Given the description of an element on the screen output the (x, y) to click on. 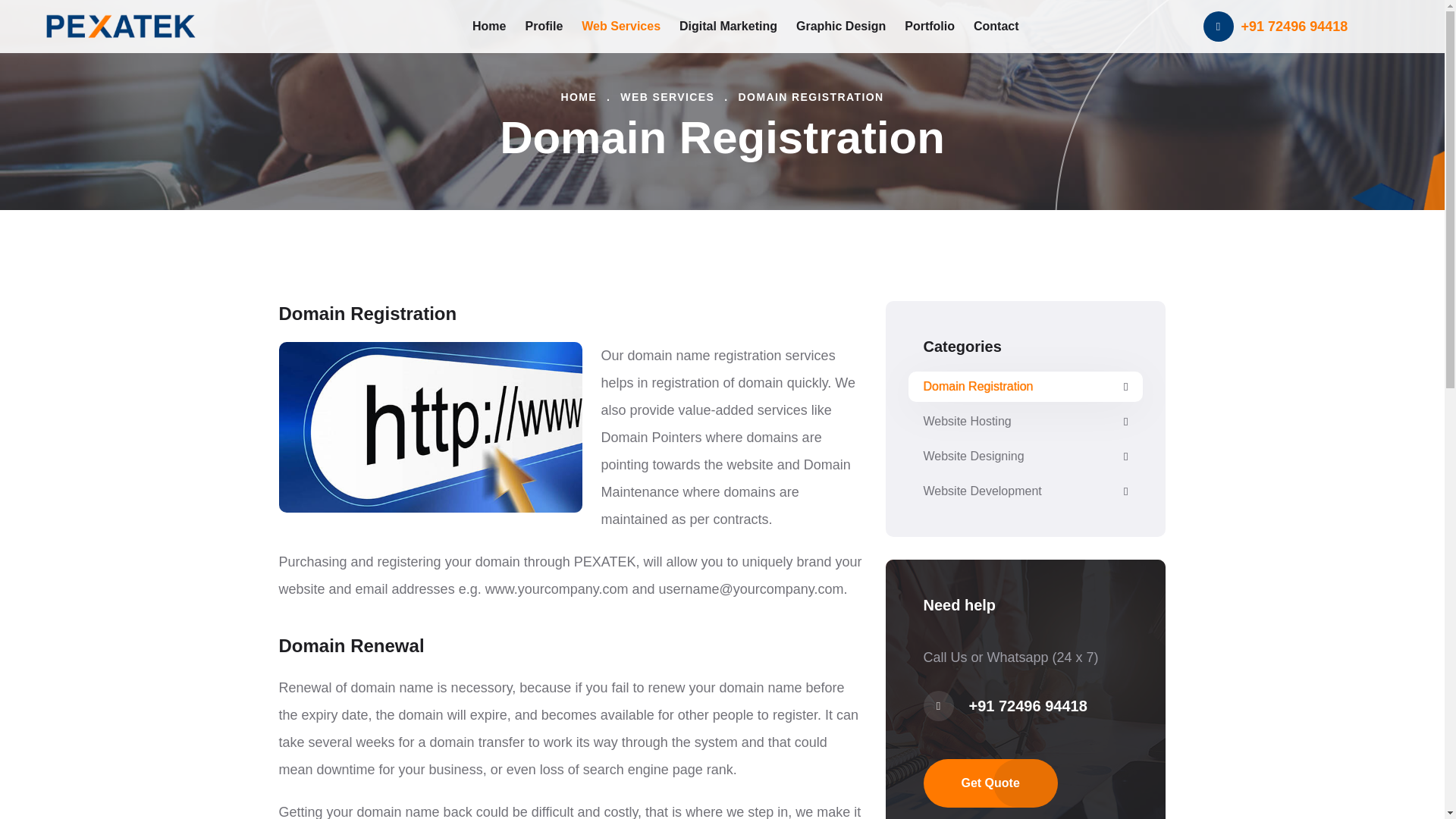
Web Services (620, 26)
Home (488, 26)
Contact (996, 26)
Digital Marketing (728, 26)
Portfolio (929, 26)
Profile (543, 26)
Graphic Design (840, 26)
